Given the description of an element on the screen output the (x, y) to click on. 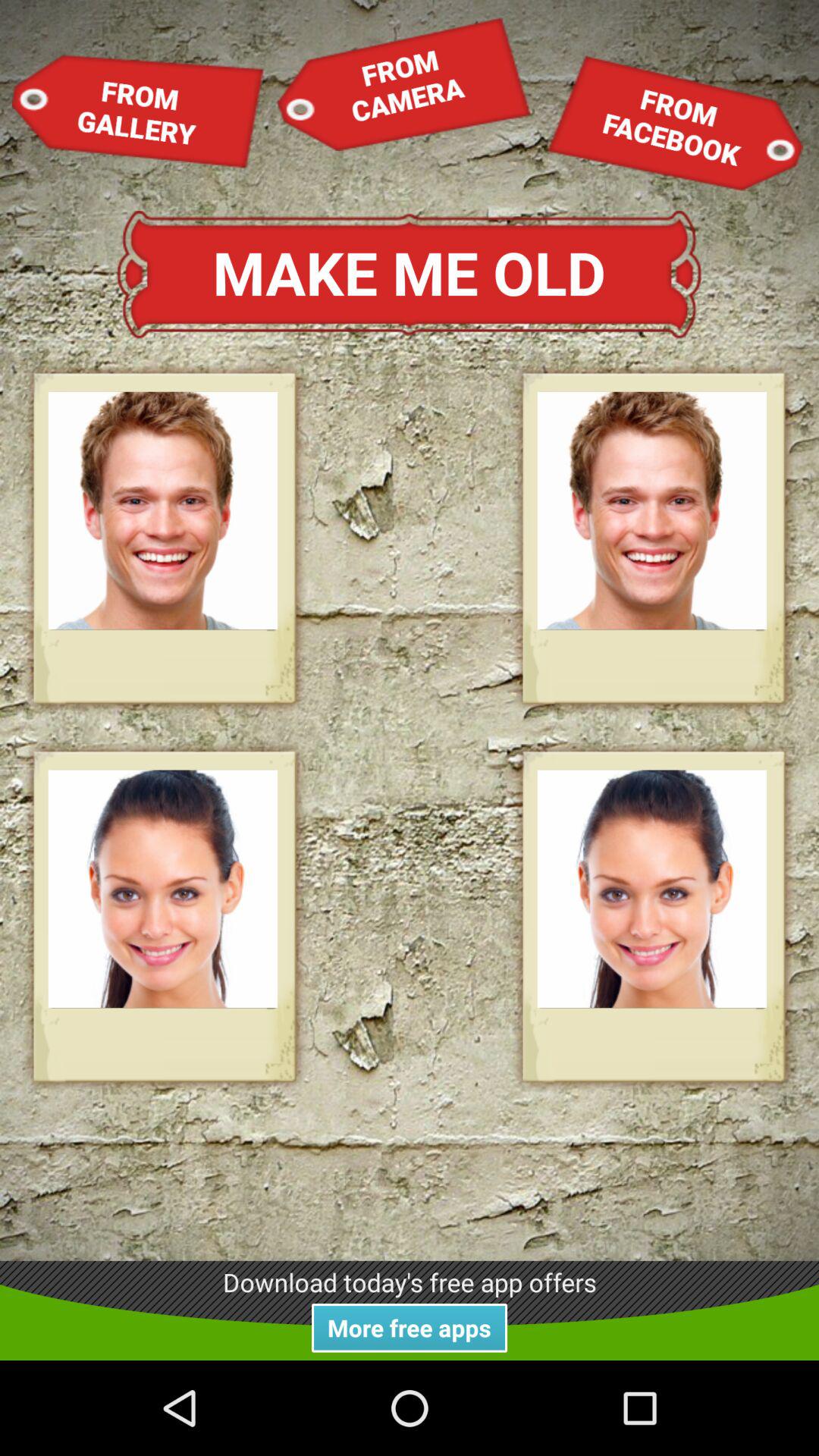
open the item below the download today s item (409, 1327)
